Given the description of an element on the screen output the (x, y) to click on. 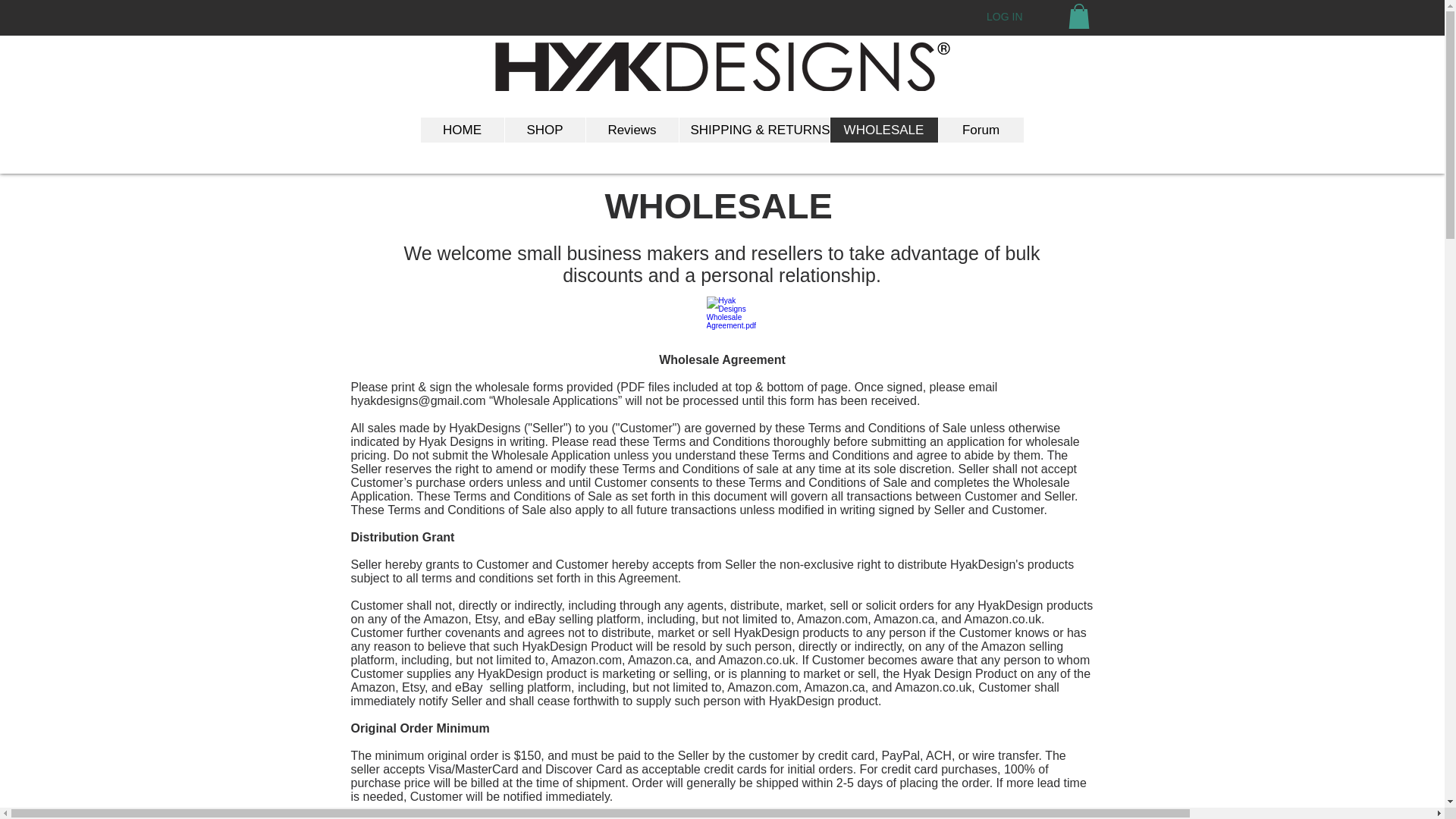
SHOP (544, 129)
HOME (461, 129)
Forum (980, 129)
LOG IN (1003, 16)
Hyak Designs Wholesale Agreement.pdf (717, 321)
WHOLESALE (883, 129)
Reviews (631, 129)
